Given the description of an element on the screen output the (x, y) to click on. 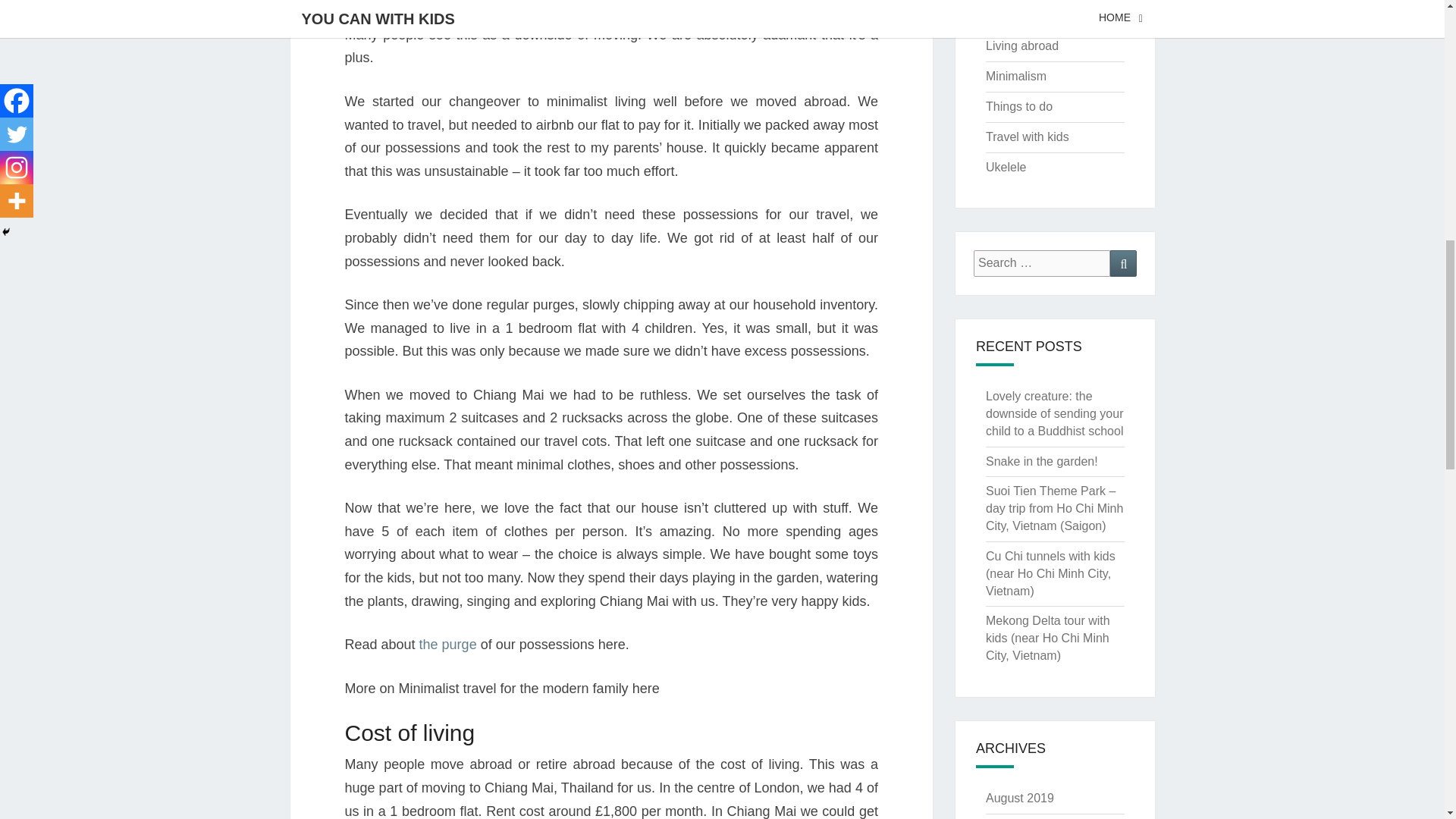
Things to do (1018, 106)
Travel with kids (1026, 136)
Search (1123, 263)
Living abroad (1021, 45)
August 2019 (1019, 797)
Minimalism (1015, 75)
Snake in the garden! (1041, 461)
Search for: (1041, 263)
Ukelele (1005, 166)
